Given the description of an element on the screen output the (x, y) to click on. 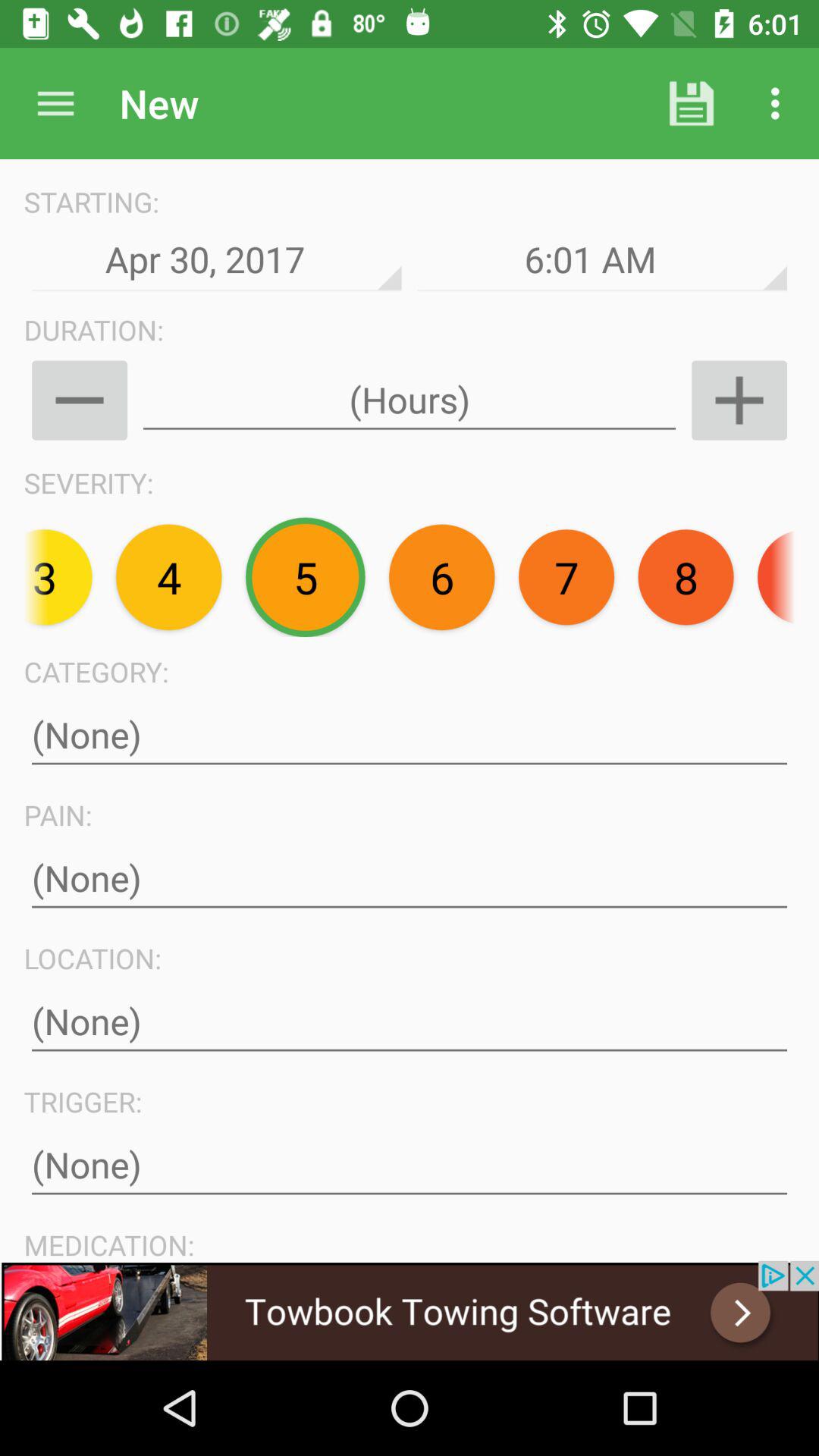
towbook towing software advertisement (409, 1310)
